Given the description of an element on the screen output the (x, y) to click on. 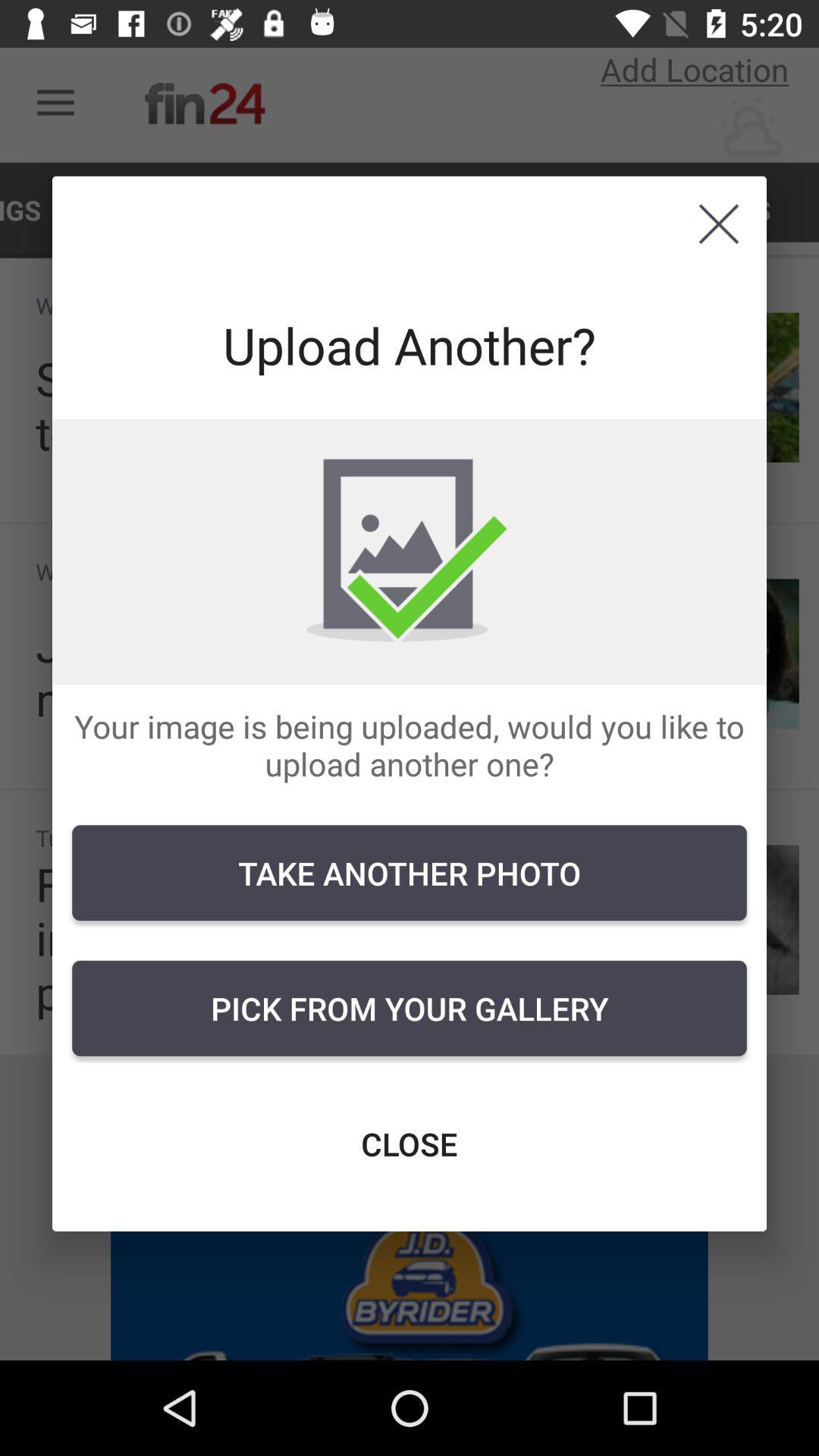
close pop up (718, 223)
